Given the description of an element on the screen output the (x, y) to click on. 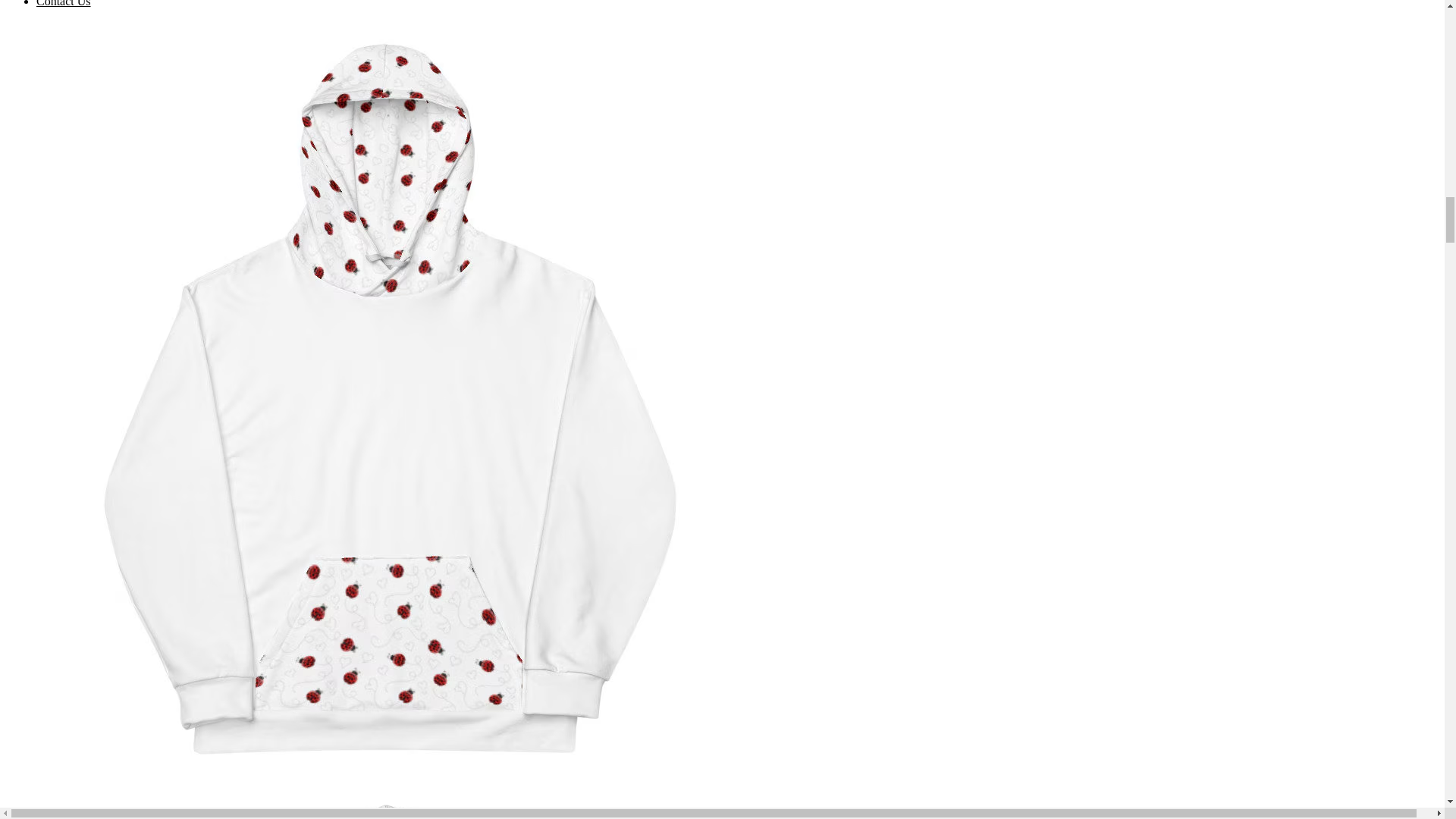
Contact Us (63, 3)
